Given the description of an element on the screen output the (x, y) to click on. 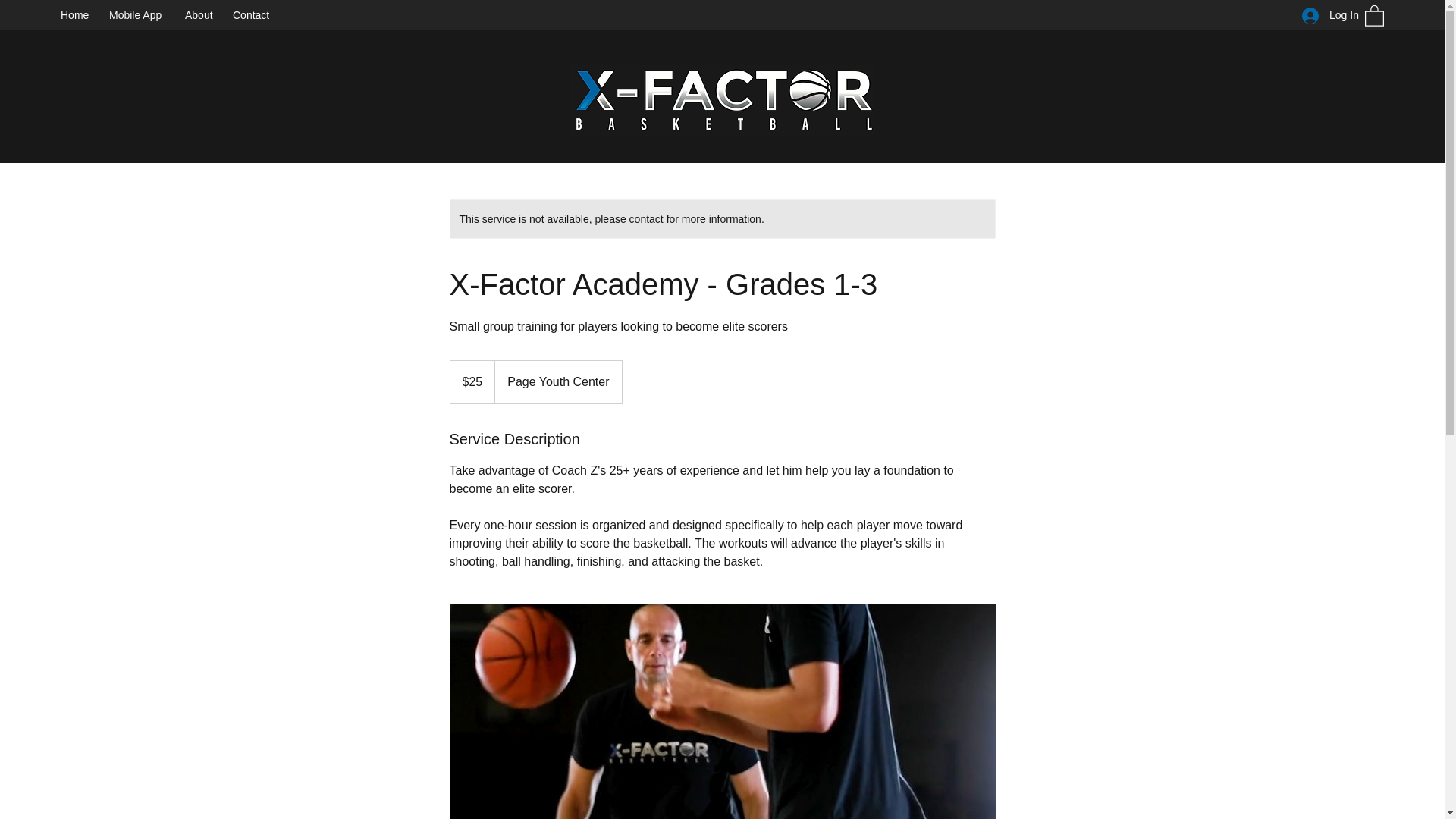
About (201, 15)
Log In (1325, 15)
Contact (255, 15)
Mobile App (139, 15)
Home (76, 15)
